Given the description of an element on the screen output the (x, y) to click on. 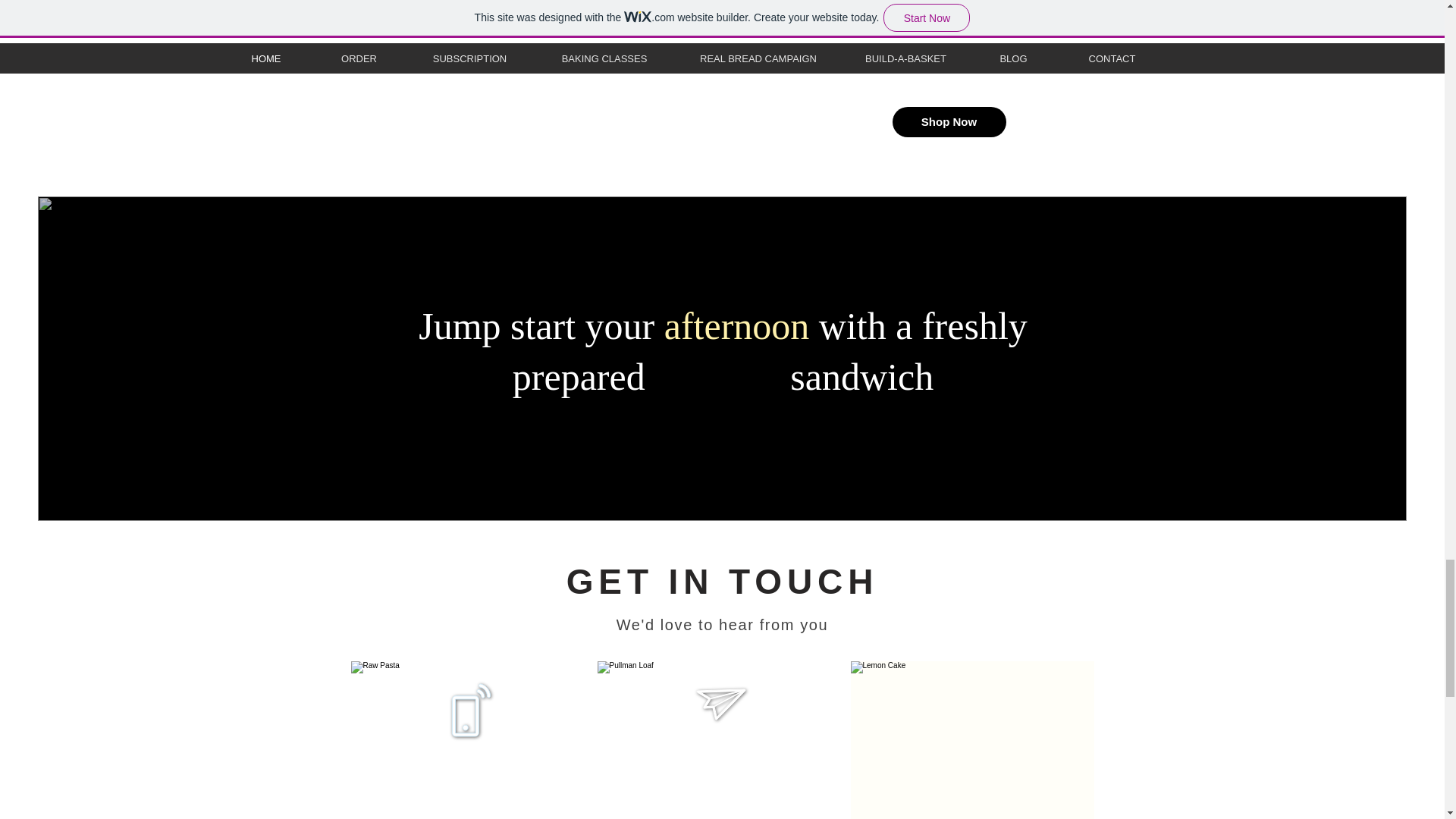
Shop Now (948, 122)
